Given the description of an element on the screen output the (x, y) to click on. 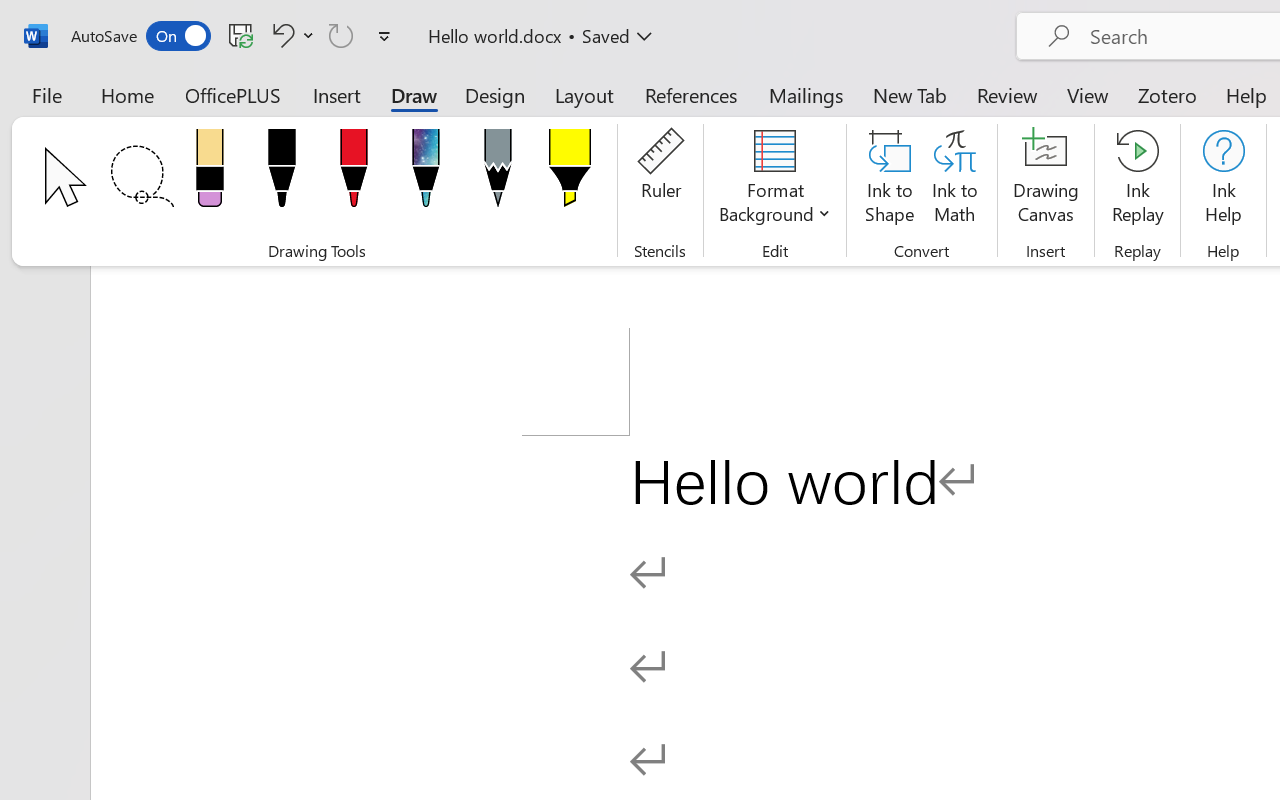
Reset to Cameo (474, 114)
From Current Slide... (224, 114)
Export to Video (585, 114)
Learn More (646, 114)
